Given the description of an element on the screen output the (x, y) to click on. 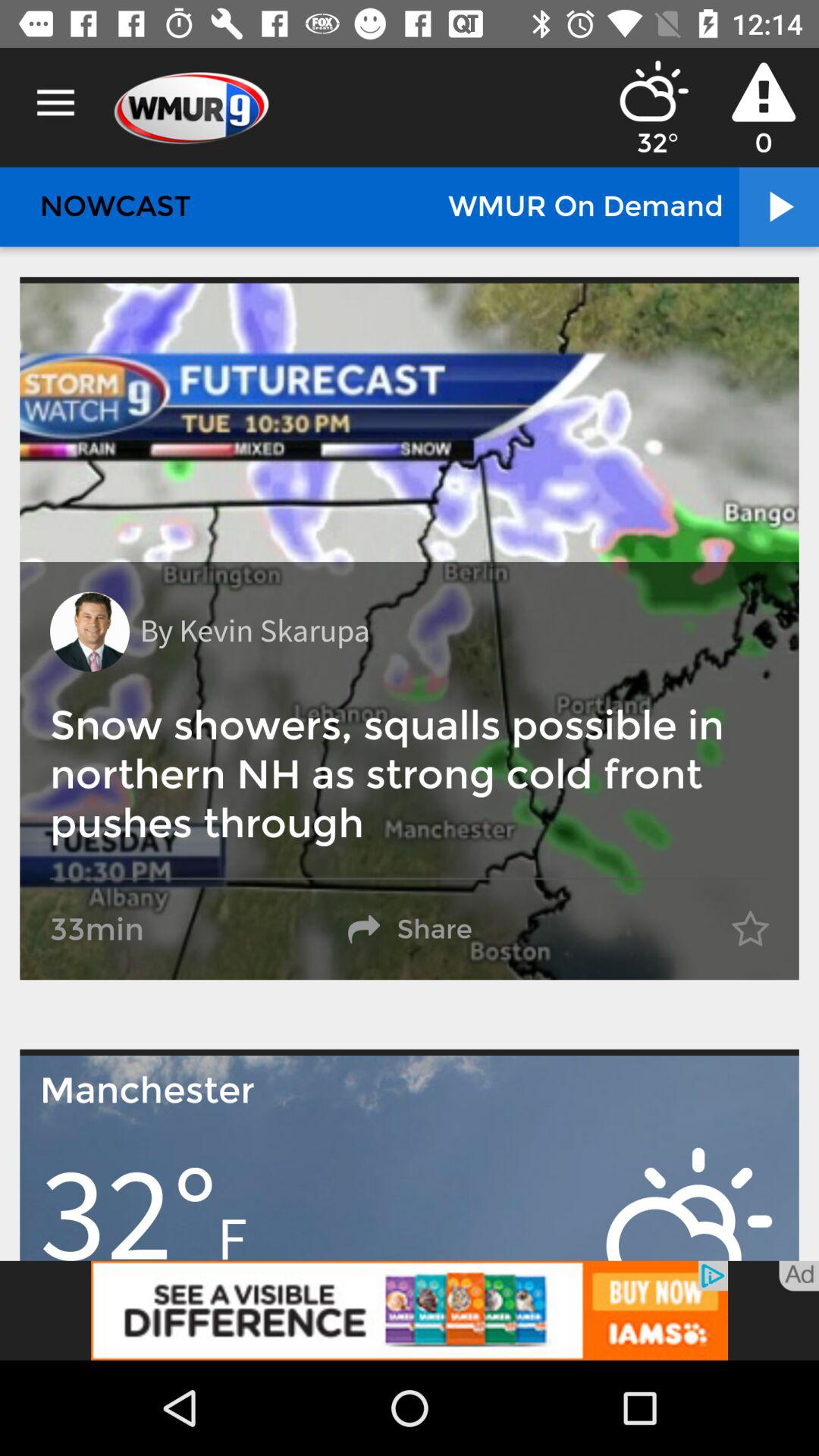
go iams (409, 1310)
